Given the description of an element on the screen output the (x, y) to click on. 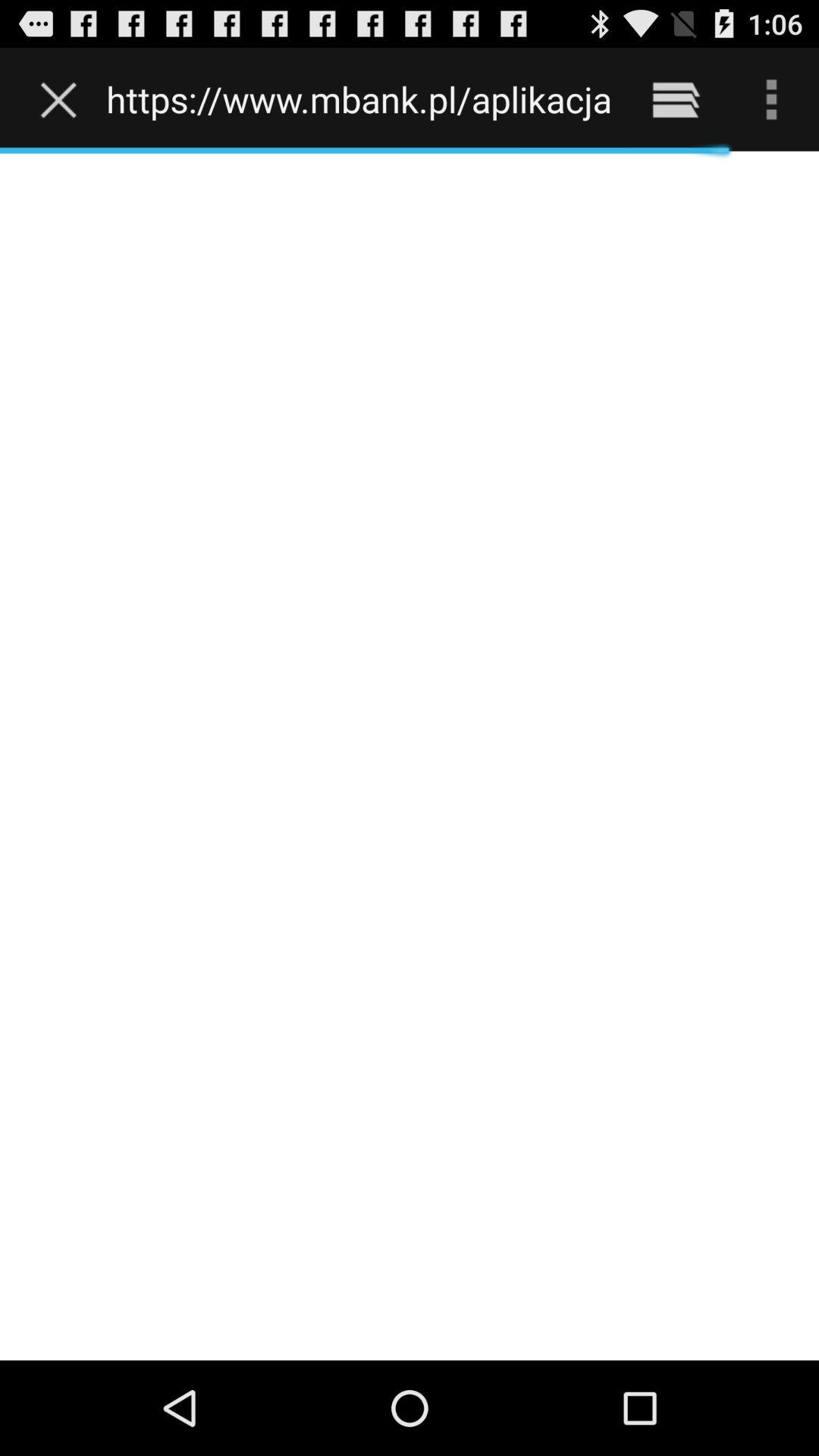
select icon next to the https www mbank icon (62, 99)
